Given the description of an element on the screen output the (x, y) to click on. 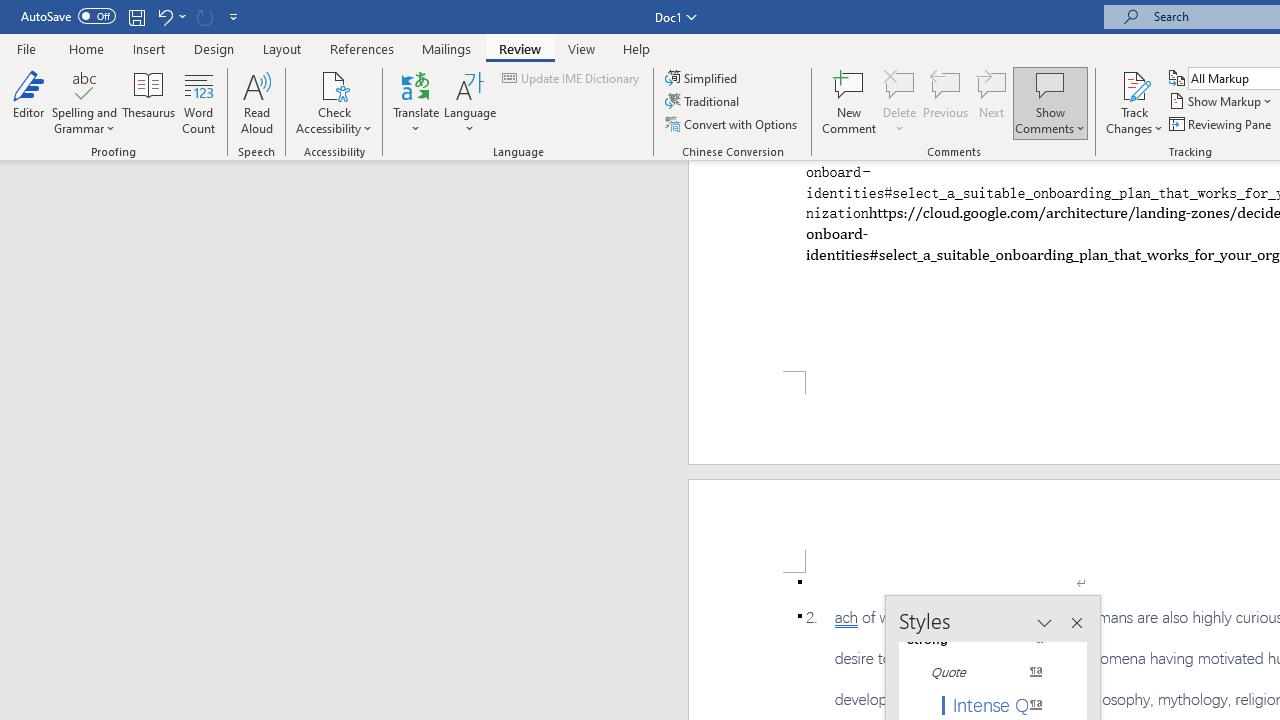
Spelling and Grammar (84, 102)
Strong (984, 638)
Undo Paste (170, 15)
Read Aloud (256, 102)
Show Comments (1050, 102)
Update IME Dictionary... (572, 78)
Delete (900, 102)
Track Changes (1134, 84)
Word Count (198, 102)
